Given the description of an element on the screen output the (x, y) to click on. 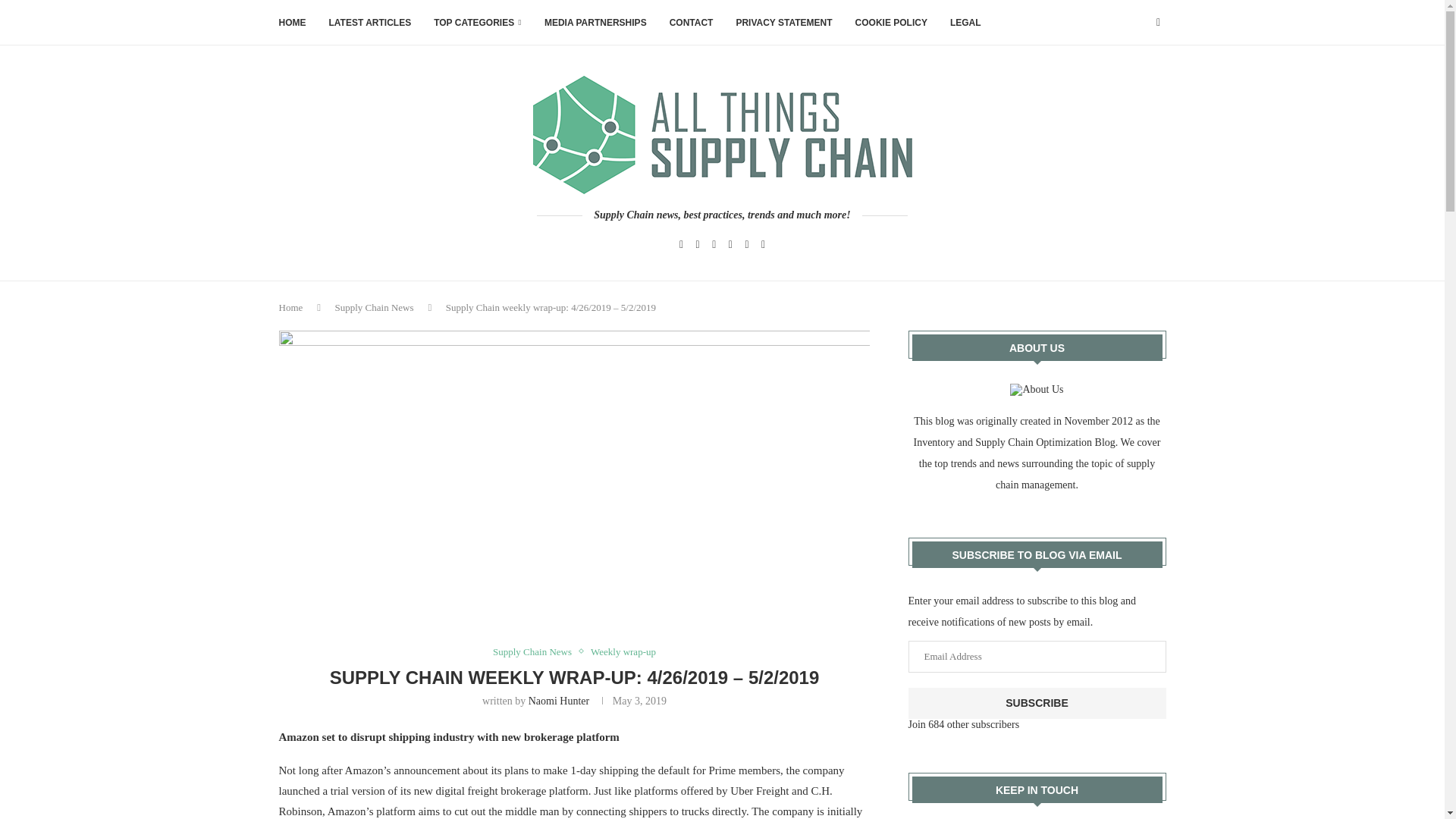
CONTACT (691, 22)
LATEST ARTICLES (370, 22)
PRIVACY STATEMENT (783, 22)
Naomi Hunter (558, 700)
TOP CATEGORIES (477, 22)
Supply Chain News (373, 307)
COOKIE POLICY (891, 22)
Supply Chain News (536, 652)
MEDIA PARTNERSHIPS (595, 22)
